Given the description of an element on the screen output the (x, y) to click on. 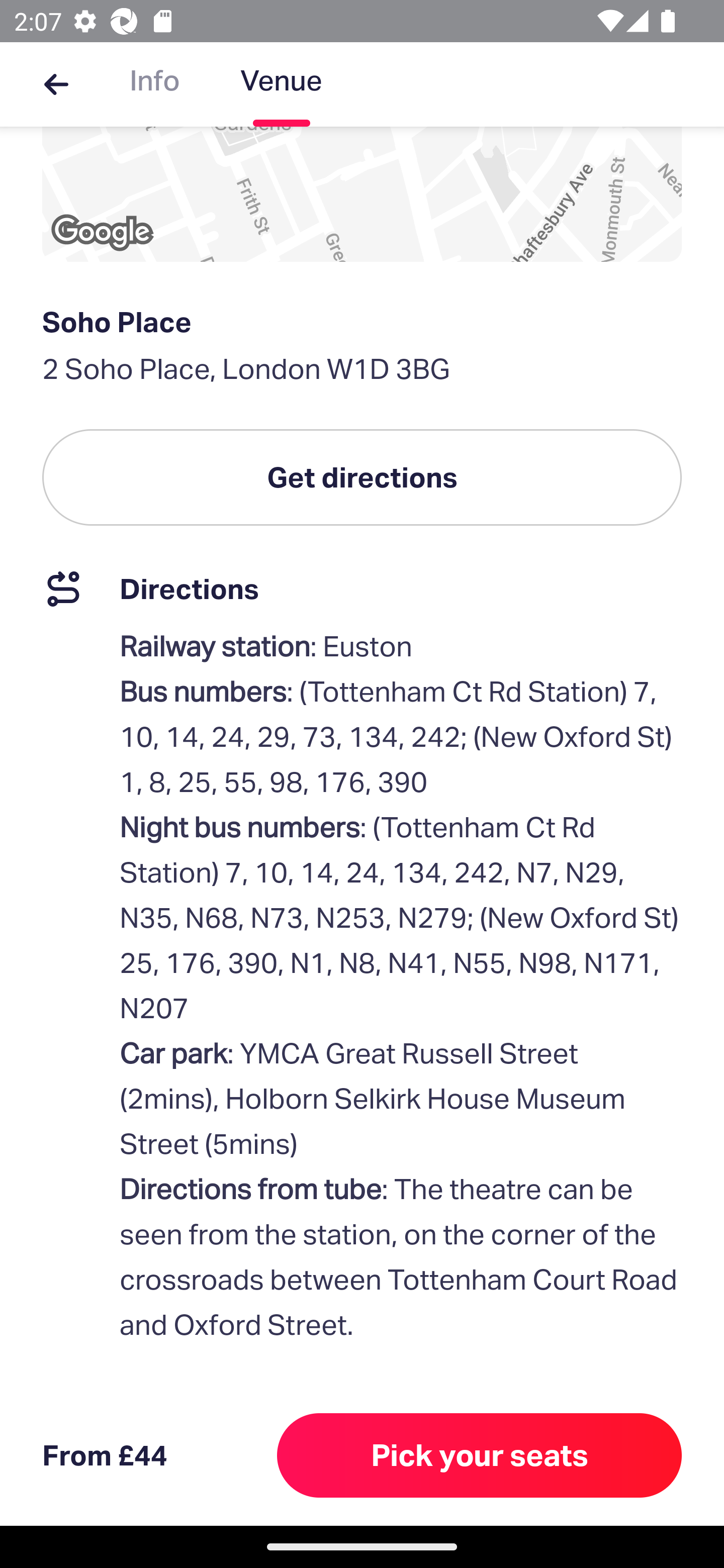
Info (154, 84)
Google Map (361, 194)
Get directions (361, 477)
Pick your seats (479, 1454)
